Given the description of an element on the screen output the (x, y) to click on. 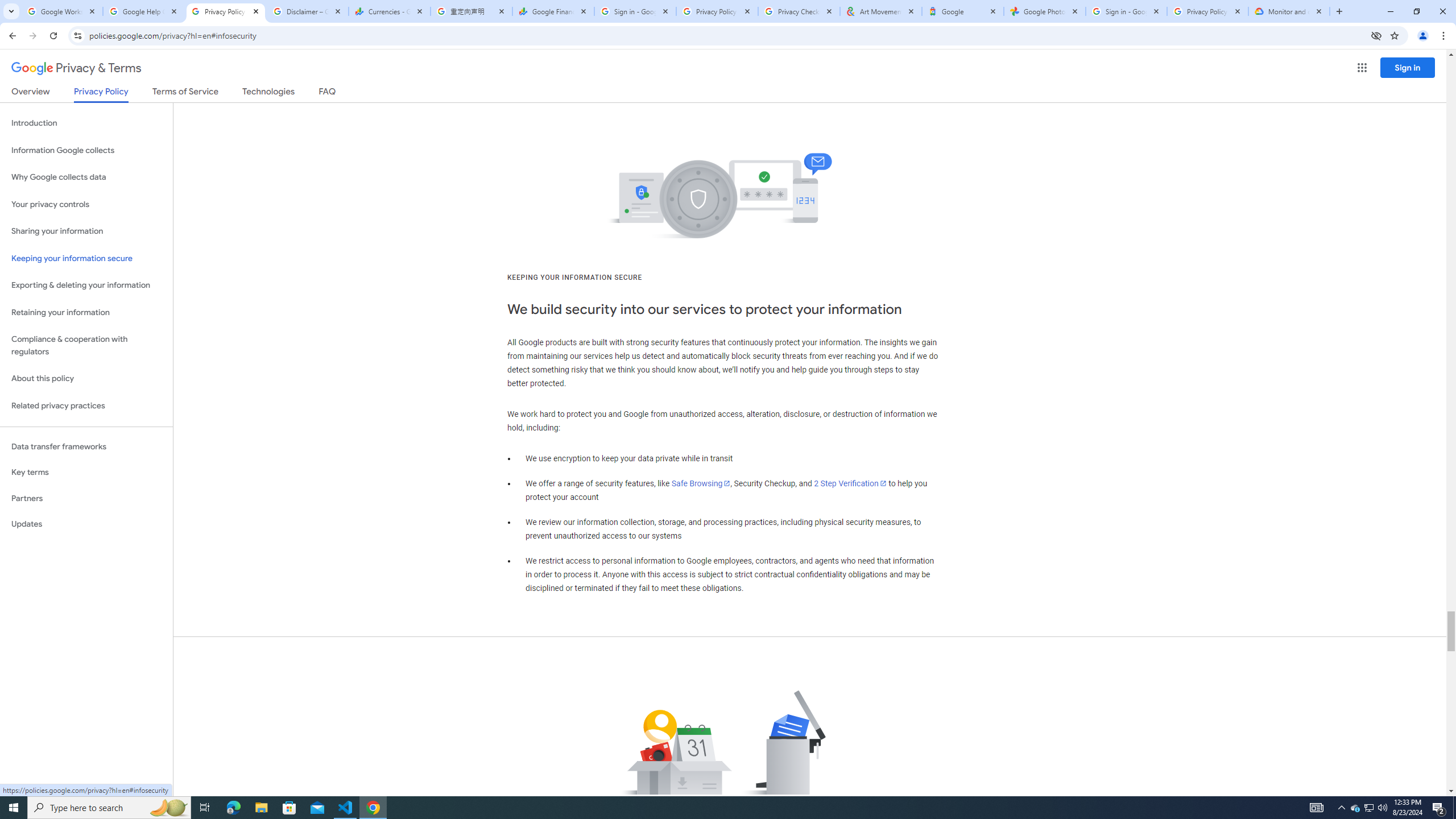
Introduction (86, 122)
Sharing your information (86, 230)
Partners (86, 497)
Safe Browsing (700, 483)
Data transfer frameworks (86, 446)
Sign in - Google Accounts (1126, 11)
Privacy & Terms (76, 68)
